Given the description of an element on the screen output the (x, y) to click on. 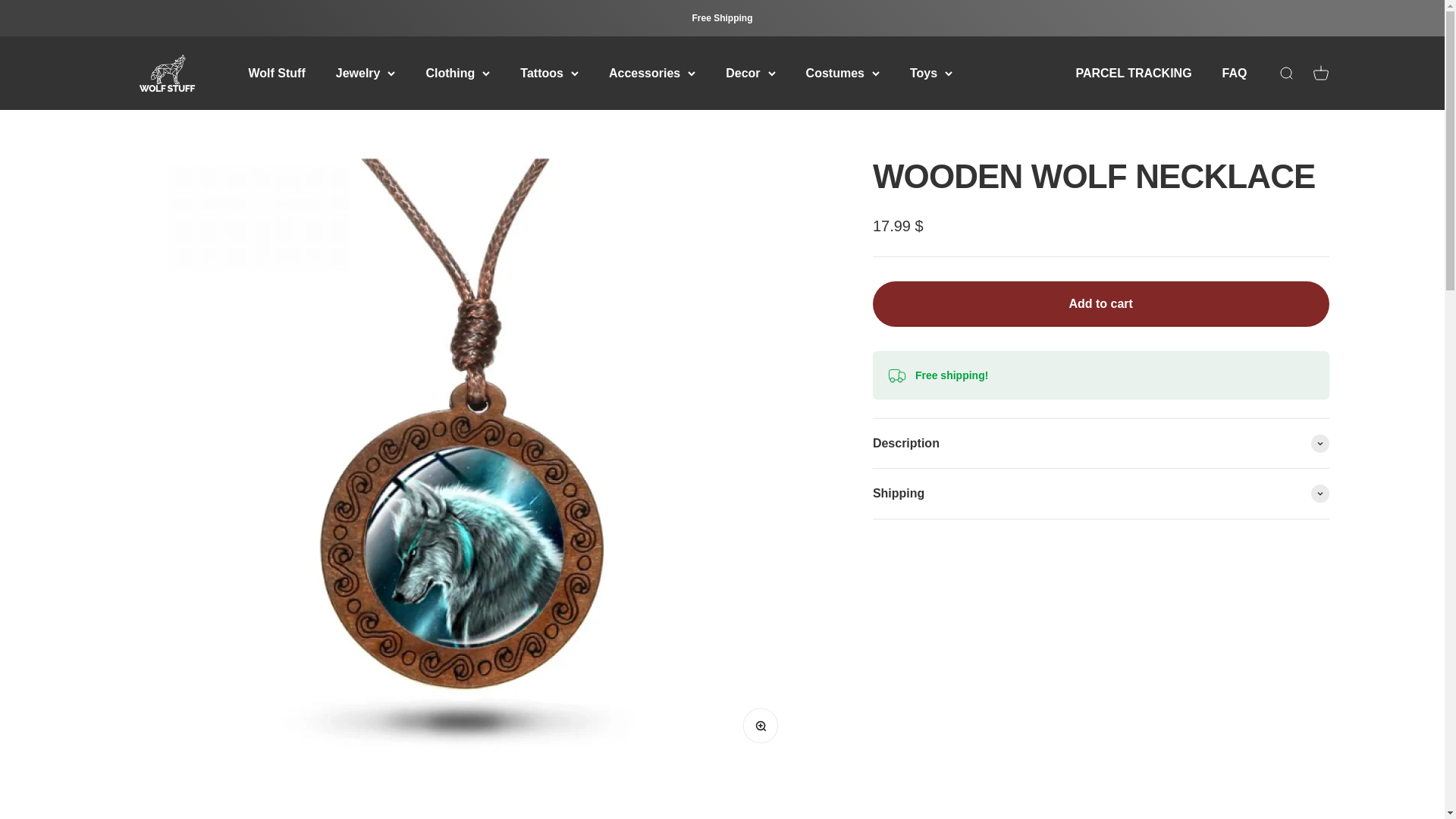
Wolf Stuff (276, 72)
